Given the description of an element on the screen output the (x, y) to click on. 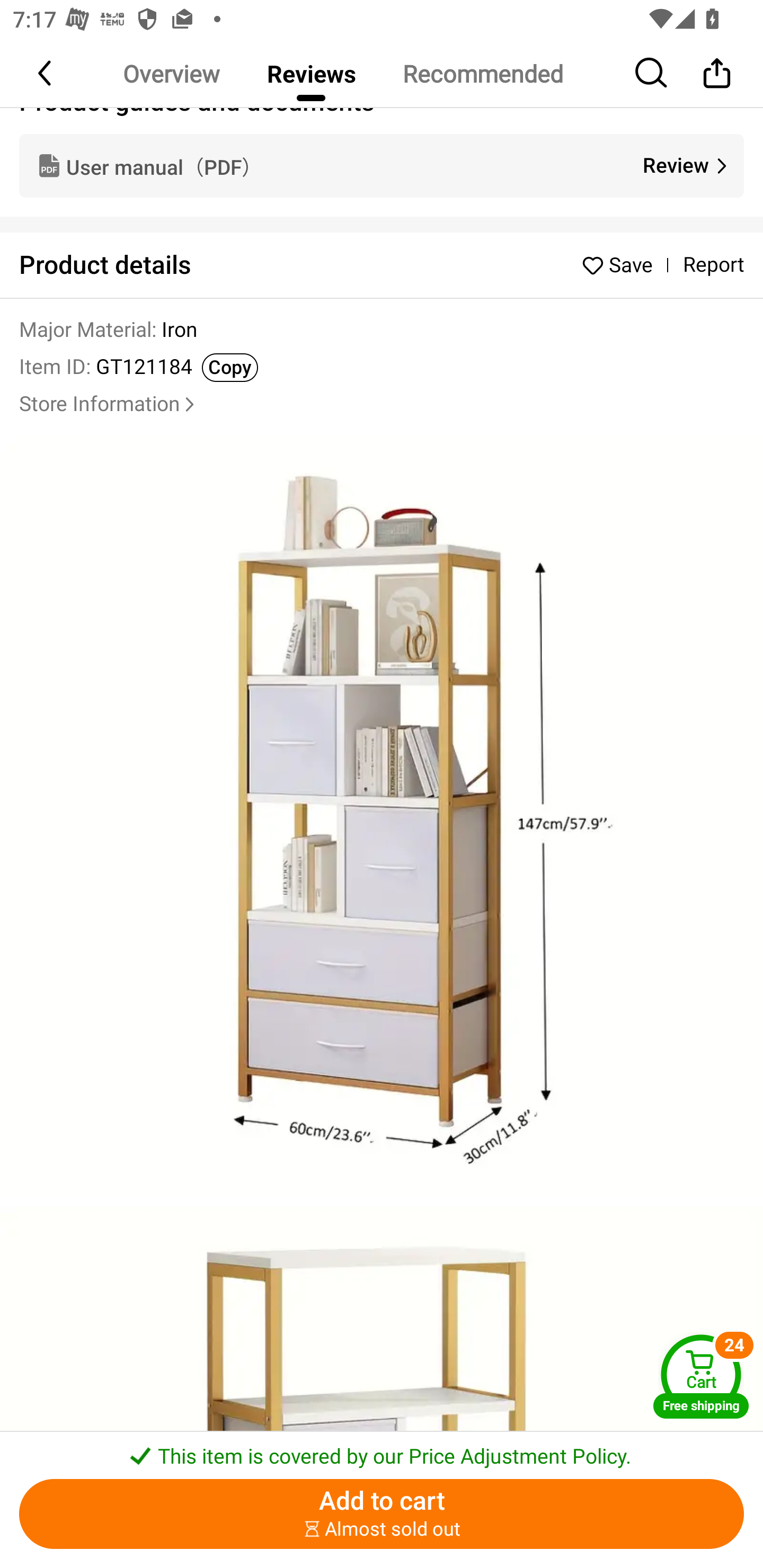
Overview (171, 72)
Reviews (311, 72)
Recommended (482, 72)
Back (46, 72)
Share (716, 72)
User manual（PDF） Review (381, 165)
Report (712, 264)
 Save (621, 264)
Copy (229, 367)
Store Information  (109, 404)
Cart Free shipping Cart (701, 1375)
Add to cart ￼￼Almost sold out (381, 1513)
